Given the description of an element on the screen output the (x, y) to click on. 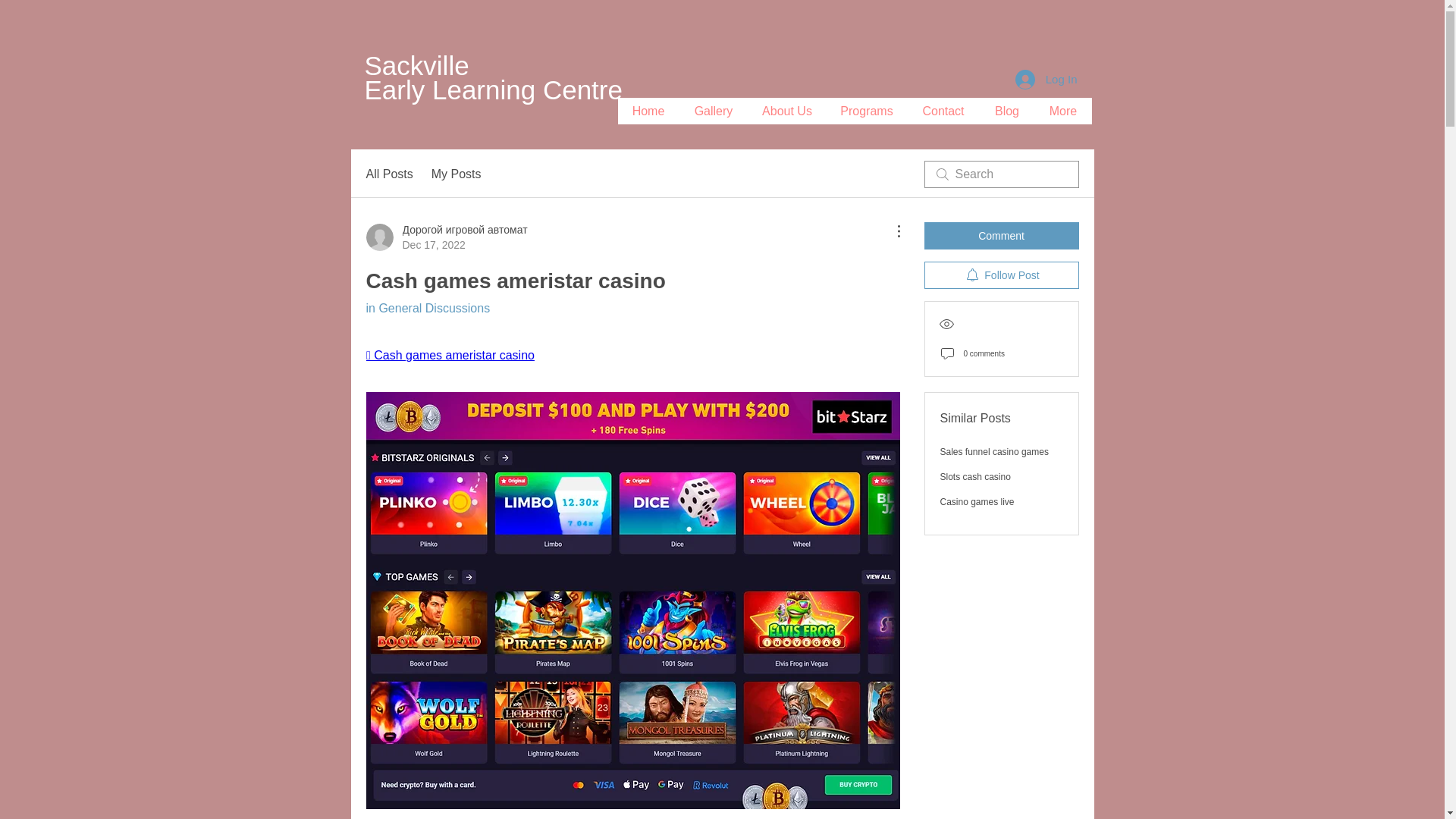
Sales funnel casino games (994, 451)
Home (647, 110)
All Posts (388, 174)
Follow Post (1000, 275)
Casino games live (977, 501)
Comment (1000, 235)
Programs (867, 110)
Blog (1006, 110)
Gallery (713, 110)
Log In (1045, 79)
My Posts (455, 174)
in General Discussions (427, 308)
Slots cash casino (975, 476)
About Us (787, 110)
Contact (943, 110)
